Given the description of an element on the screen output the (x, y) to click on. 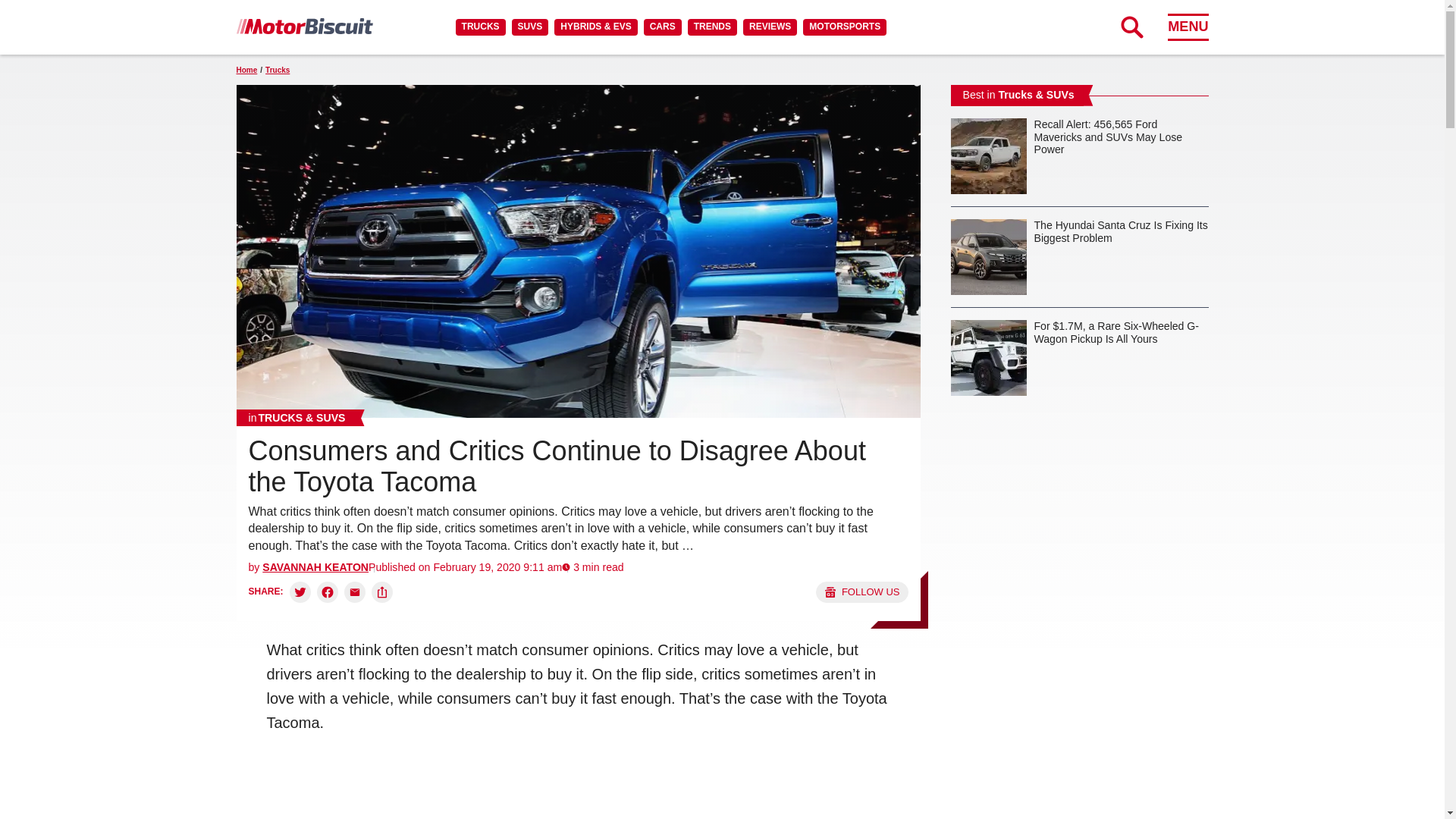
MotorBiscuit (303, 26)
TRUCKS (480, 26)
CARS (662, 26)
TRENDS (711, 26)
Expand Search (1131, 26)
Copy link and share:  (382, 591)
REVIEWS (769, 26)
Follow us on Google News (861, 591)
MENU (1187, 26)
